Given the description of an element on the screen output the (x, y) to click on. 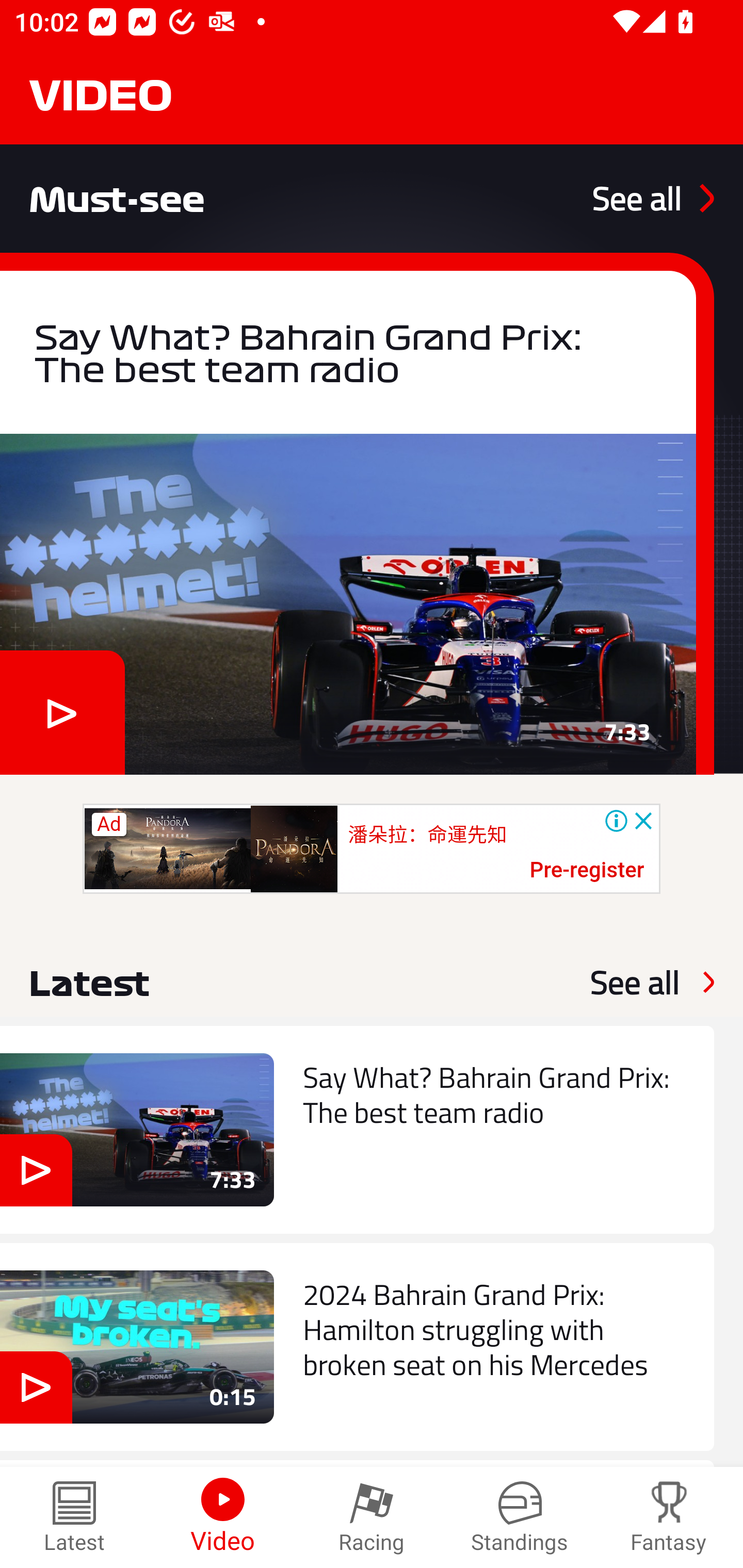
See all (653, 198)
潘朵拉：命運先知 (427, 834)
Pre-register (586, 870)
See all (634, 982)
Latest (74, 1517)
Racing (371, 1517)
Standings (519, 1517)
Fantasy (668, 1517)
